Given the description of an element on the screen output the (x, y) to click on. 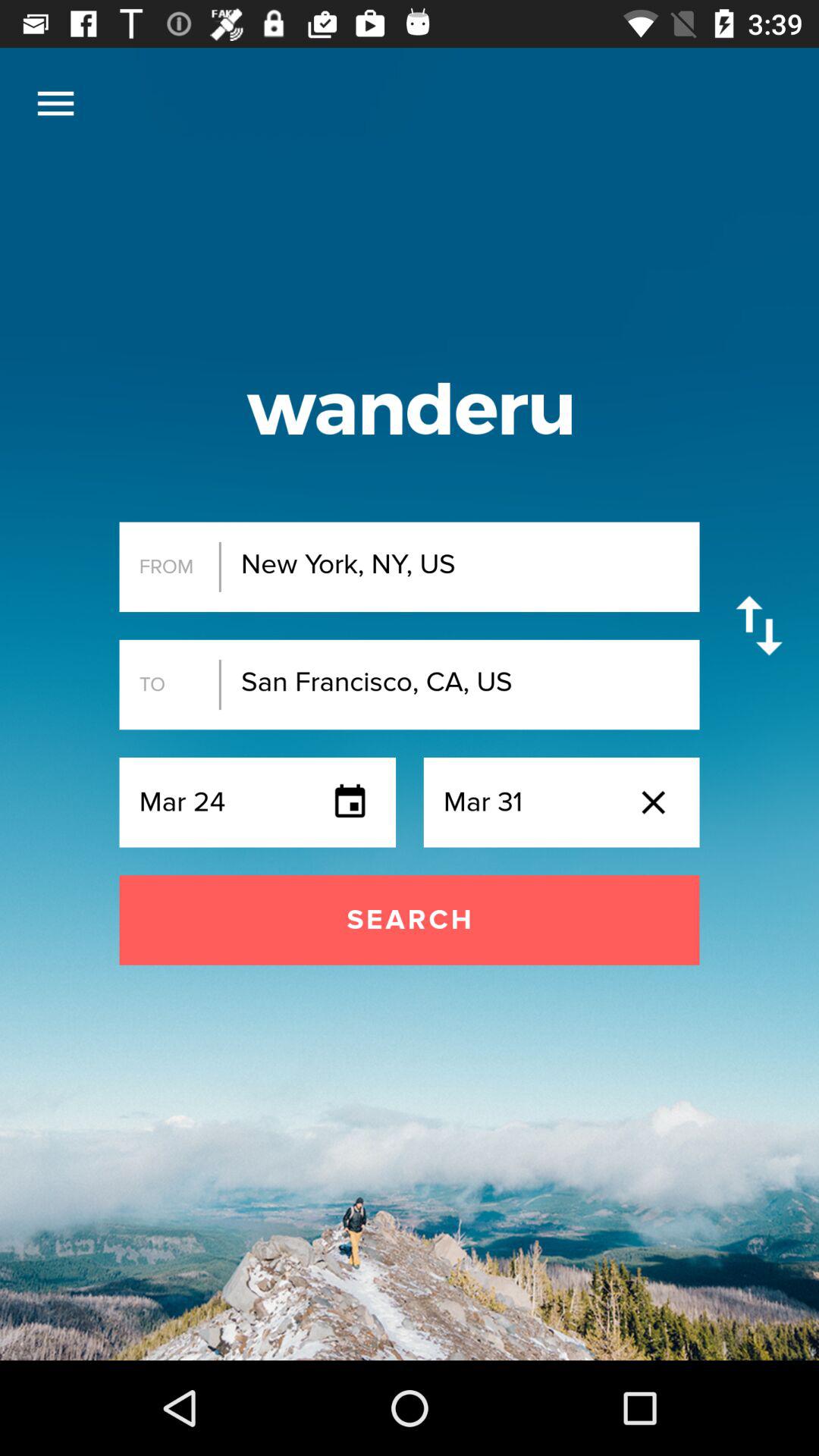
scroll to the search icon (409, 920)
